Given the description of an element on the screen output the (x, y) to click on. 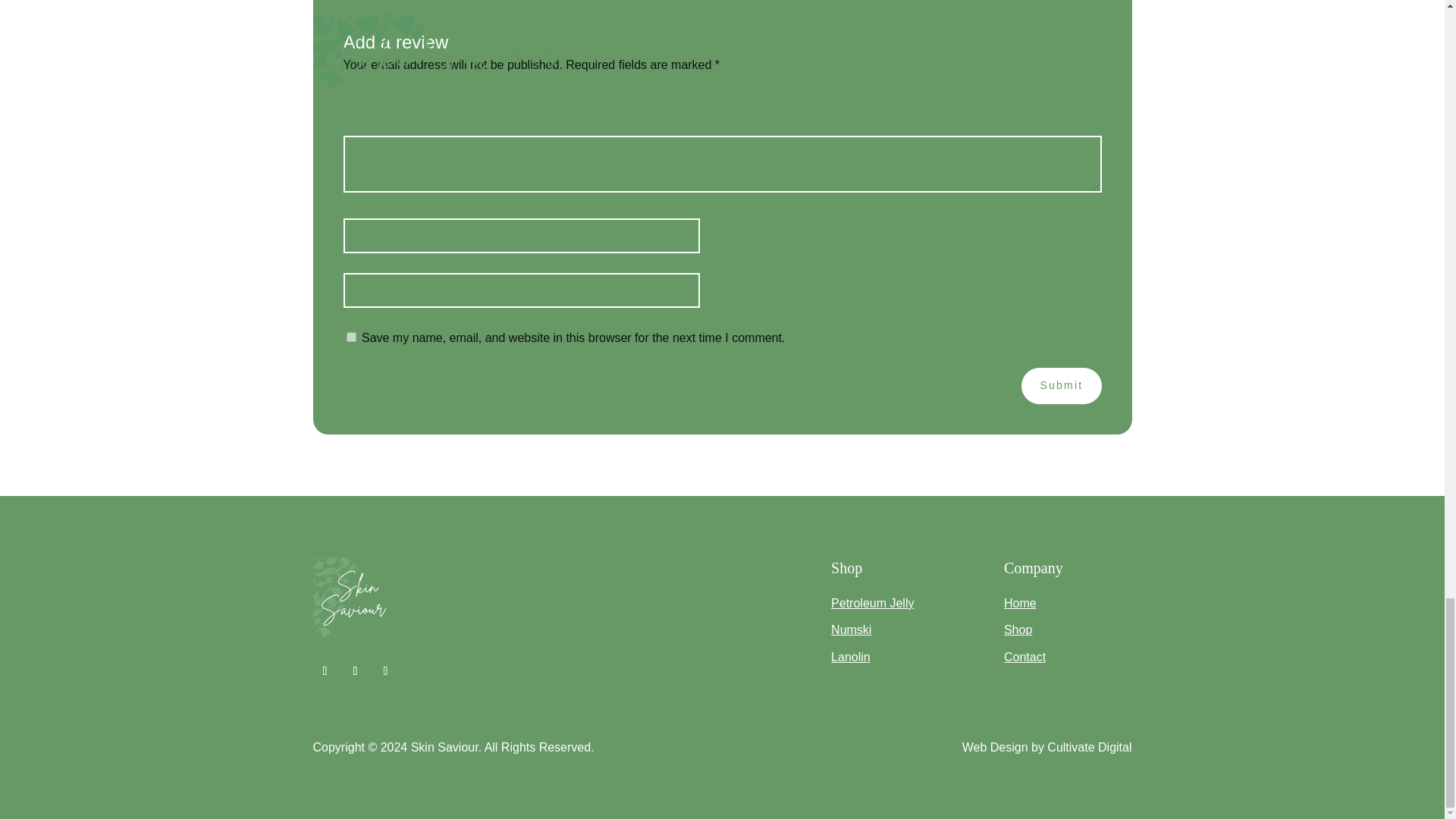
Follow on X (354, 671)
1 (348, 101)
Skin Saviour Stacked Logo White Transparent Background (352, 597)
Follow on Facebook (324, 671)
yes (350, 337)
Follow on Instagram (384, 671)
